Given the description of an element on the screen output the (x, y) to click on. 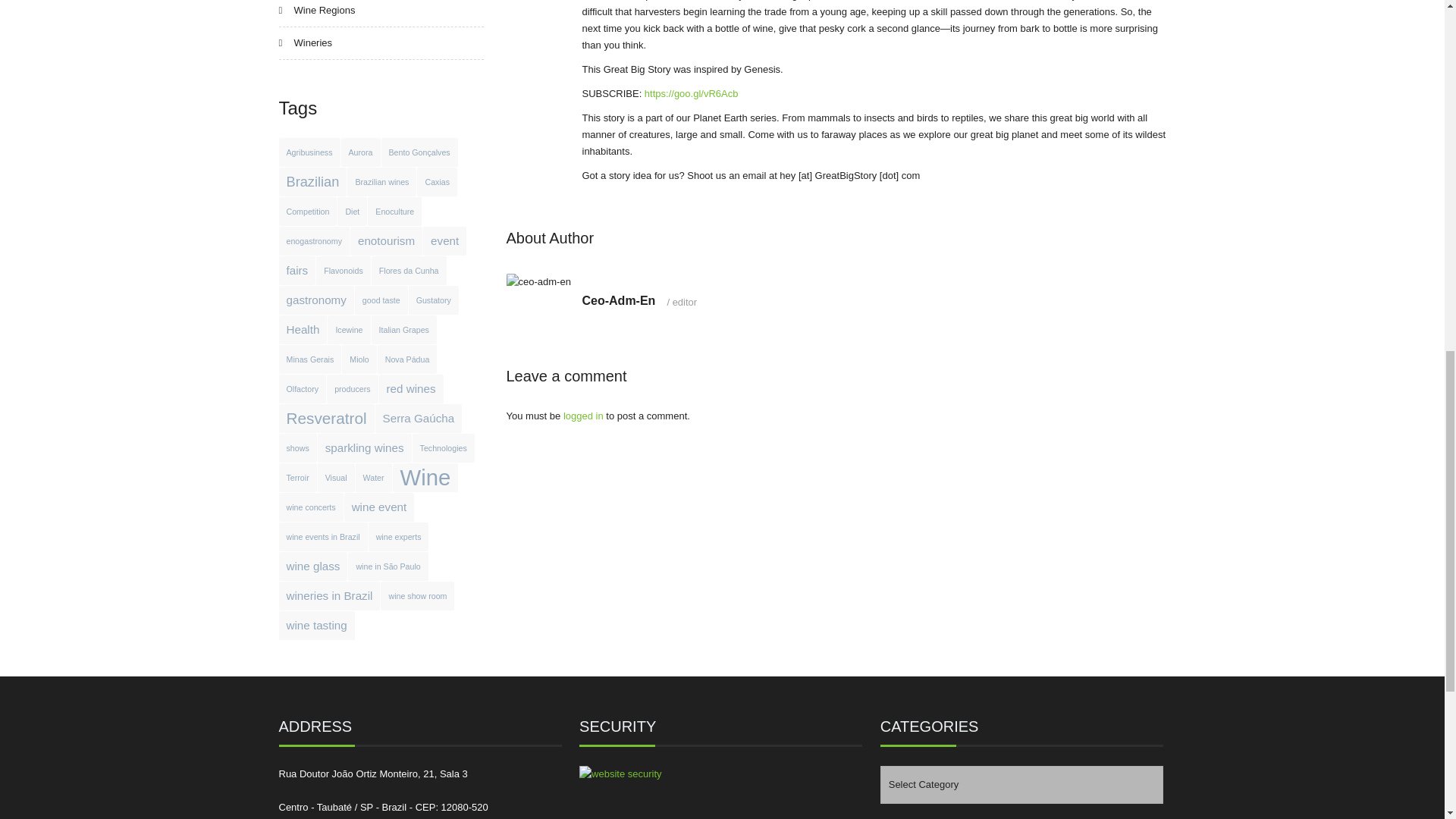
ceo-adm-en (538, 281)
